Given the description of an element on the screen output the (x, y) to click on. 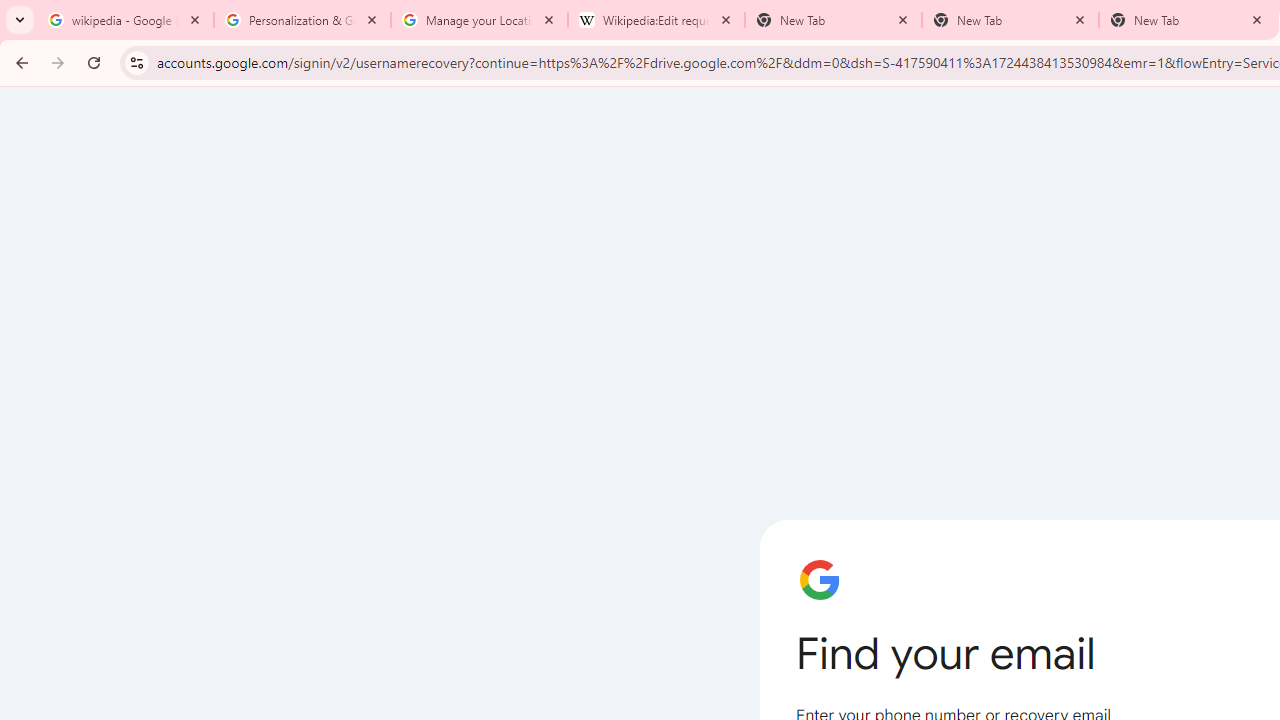
Manage your Location History - Google Search Help (479, 20)
Personalization & Google Search results - Google Search Help (301, 20)
Wikipedia:Edit requests - Wikipedia (656, 20)
New Tab (1010, 20)
